Given the description of an element on the screen output the (x, y) to click on. 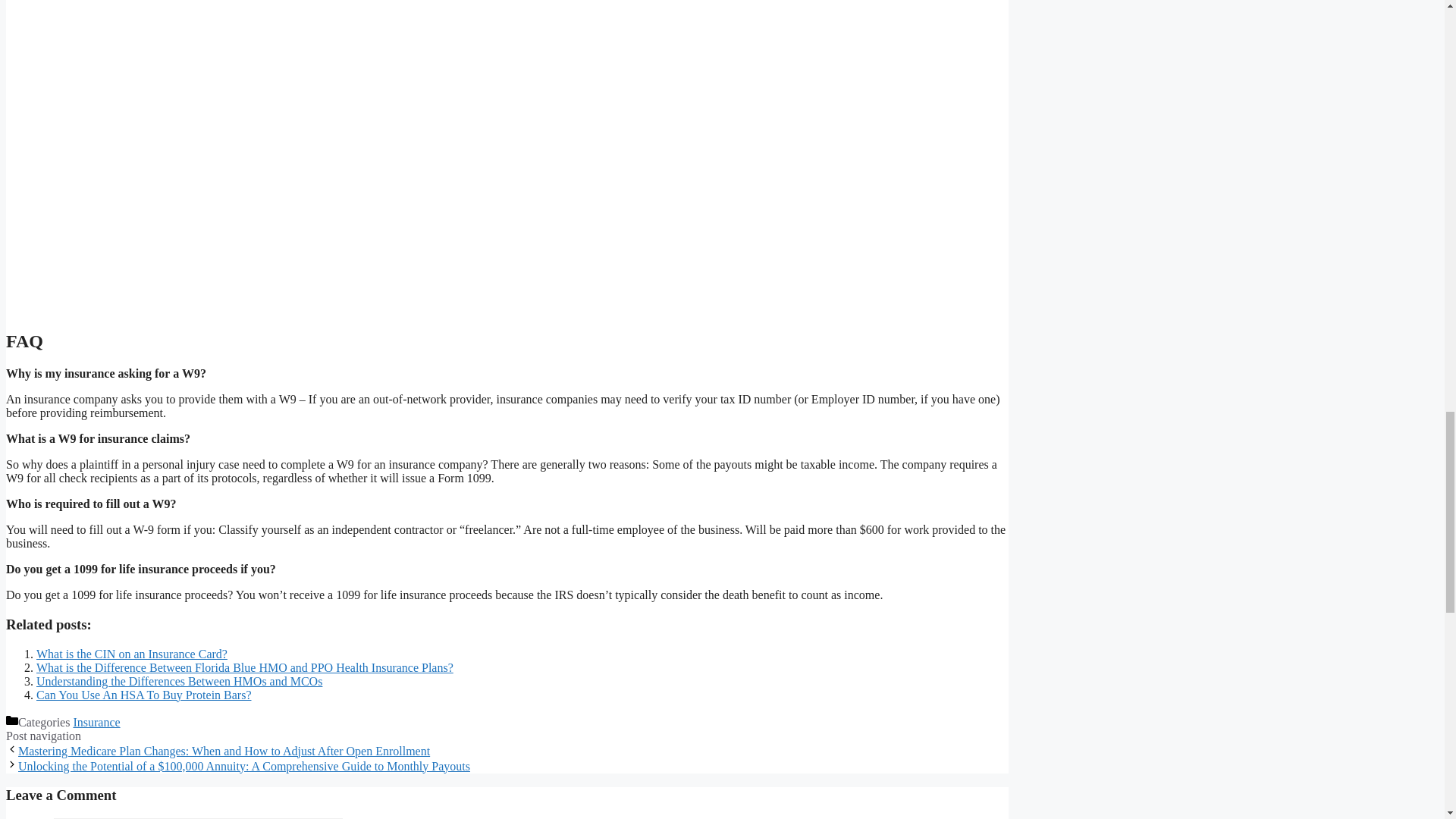
Previous (223, 750)
Can You Use An HSA To Buy Protein Bars? (143, 694)
Understanding the Differences Between HMOs and MCOs (178, 680)
Understanding the Differences Between HMOs and MCOs (178, 680)
What is the CIN on an Insurance Card? (131, 653)
What is the CIN on an Insurance Card? (131, 653)
Next (243, 766)
Can You Use An HSA To Buy Protein Bars? (143, 694)
Insurance (95, 721)
